Given the description of an element on the screen output the (x, y) to click on. 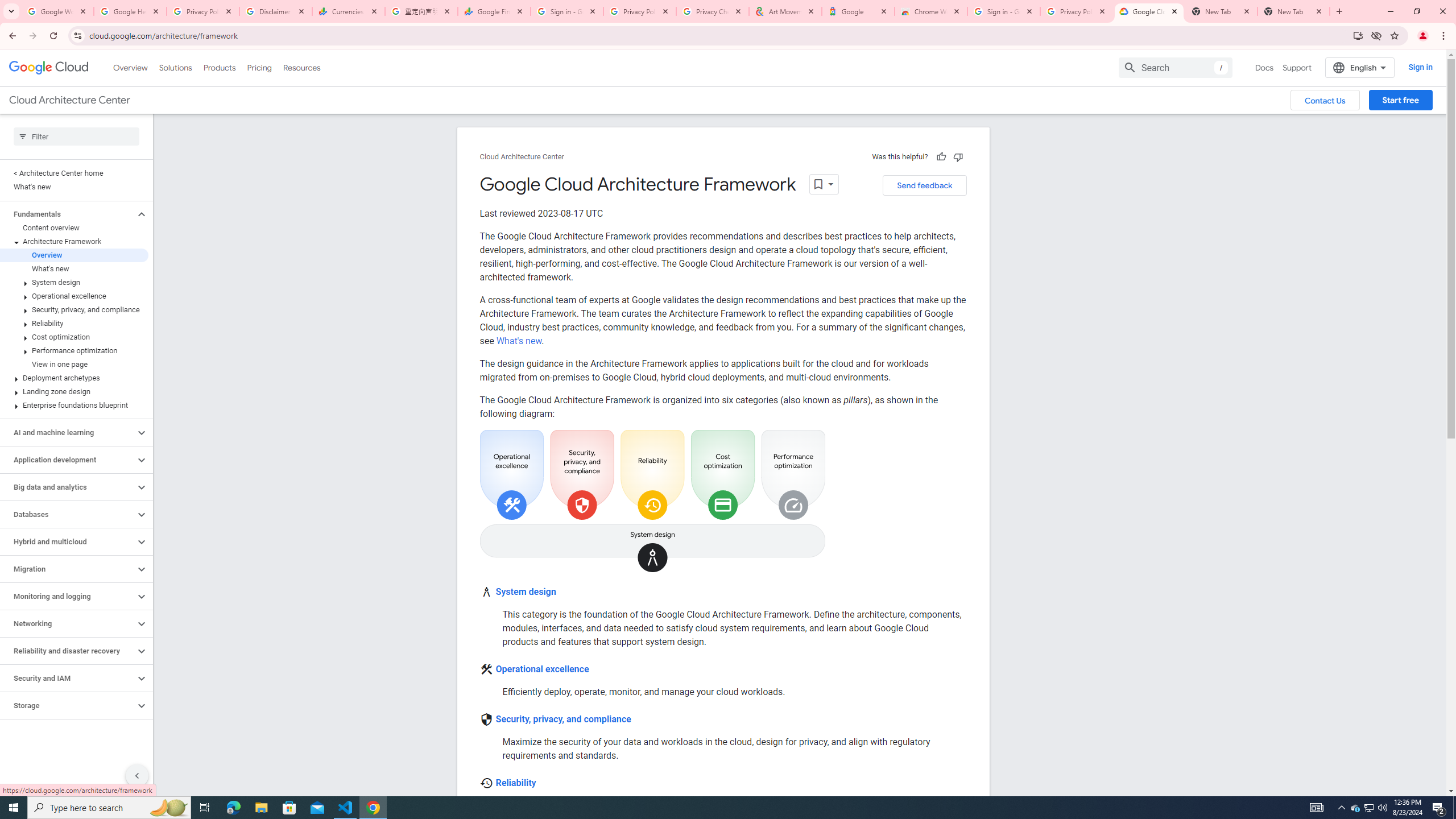
Security and IAM (67, 678)
Reliability and disaster recovery (67, 650)
System design (525, 591)
Landing zone design (74, 391)
Sign in - Google Accounts (566, 11)
Contact Us (1324, 100)
Cost optimization (74, 336)
Install Google Cloud (1358, 35)
Pricing (259, 67)
